Given the description of an element on the screen output the (x, y) to click on. 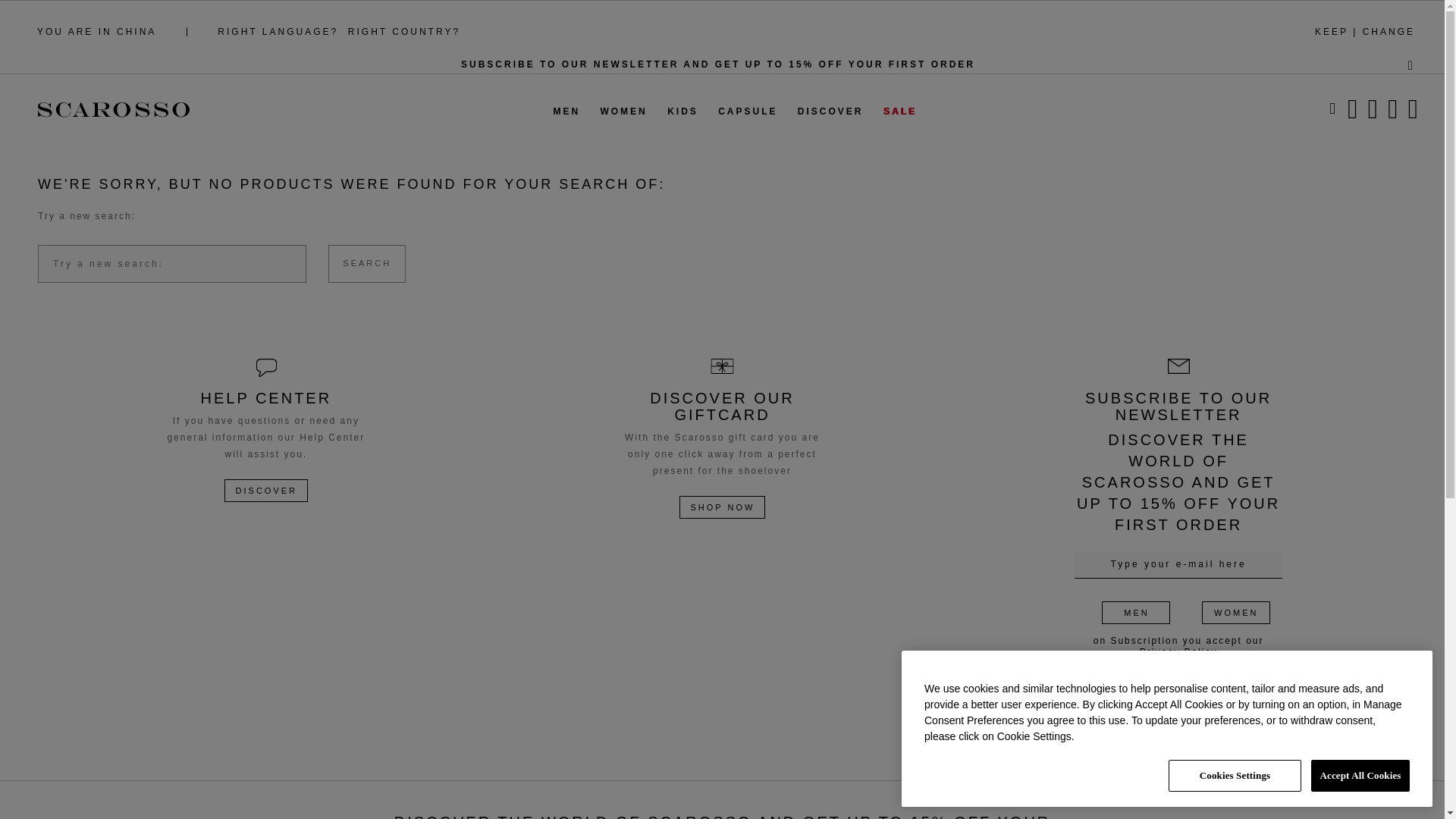
MEN (566, 111)
men (1247, 115)
women (1350, 115)
